Given the description of an element on the screen output the (x, y) to click on. 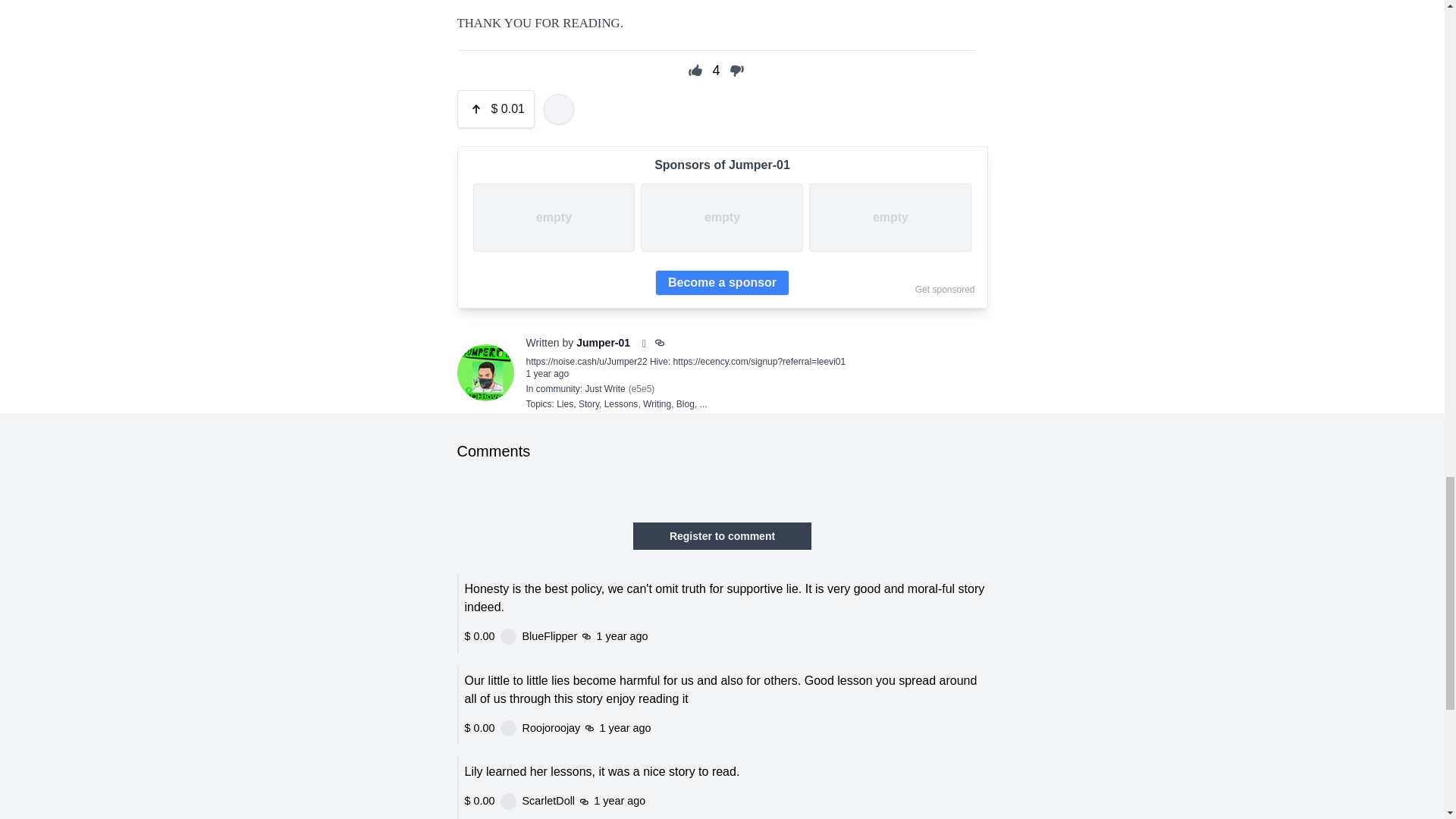
Lessons (621, 403)
community (557, 388)
Get sponsored (945, 289)
Lies (564, 403)
Register to comment (721, 535)
Story (588, 403)
Writing (657, 403)
Become a sponsor (722, 282)
Jumper-01 (603, 342)
Blog (685, 403)
